Given the description of an element on the screen output the (x, y) to click on. 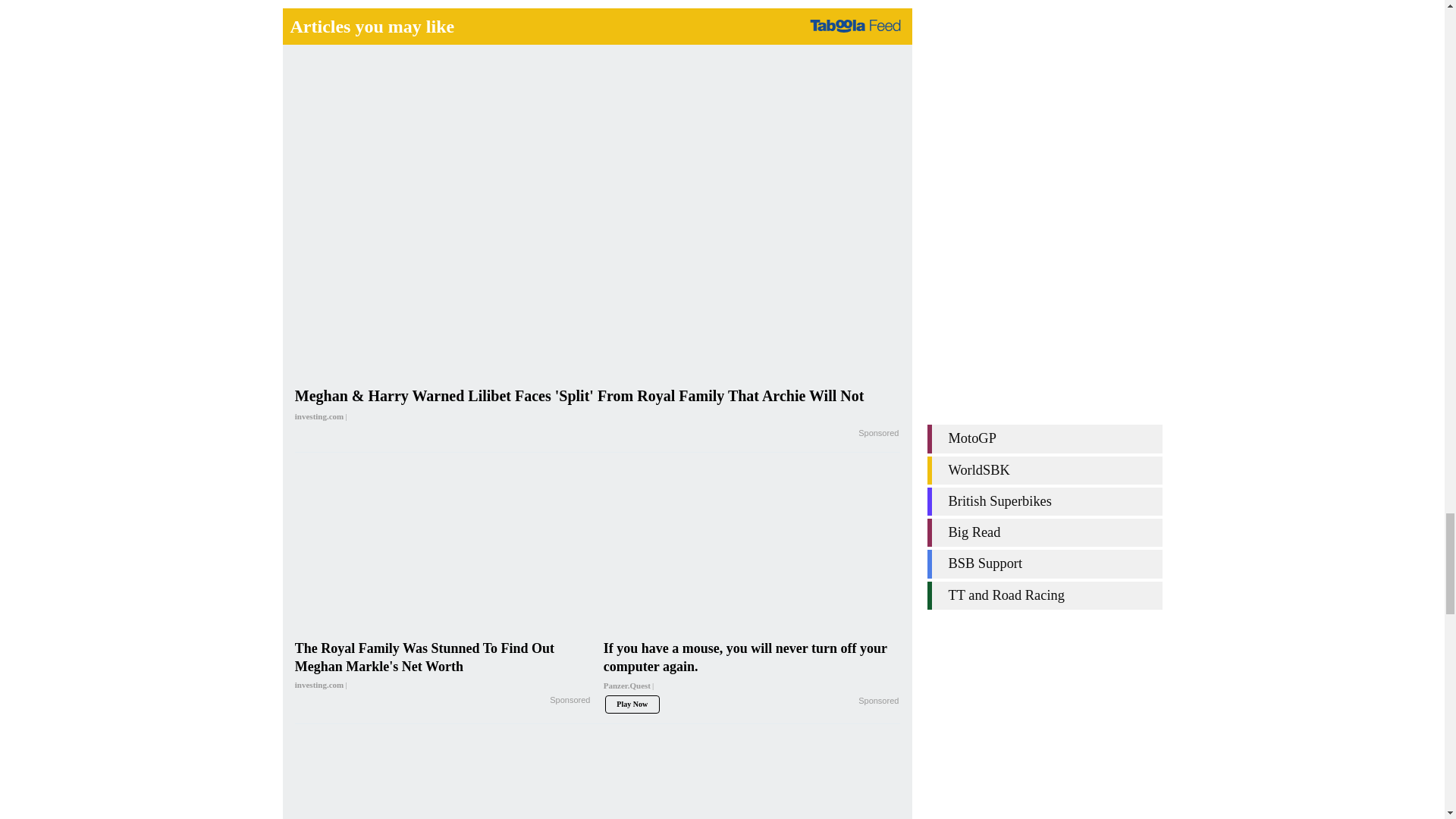
Sponsored (878, 433)
